Given the description of an element on the screen output the (x, y) to click on. 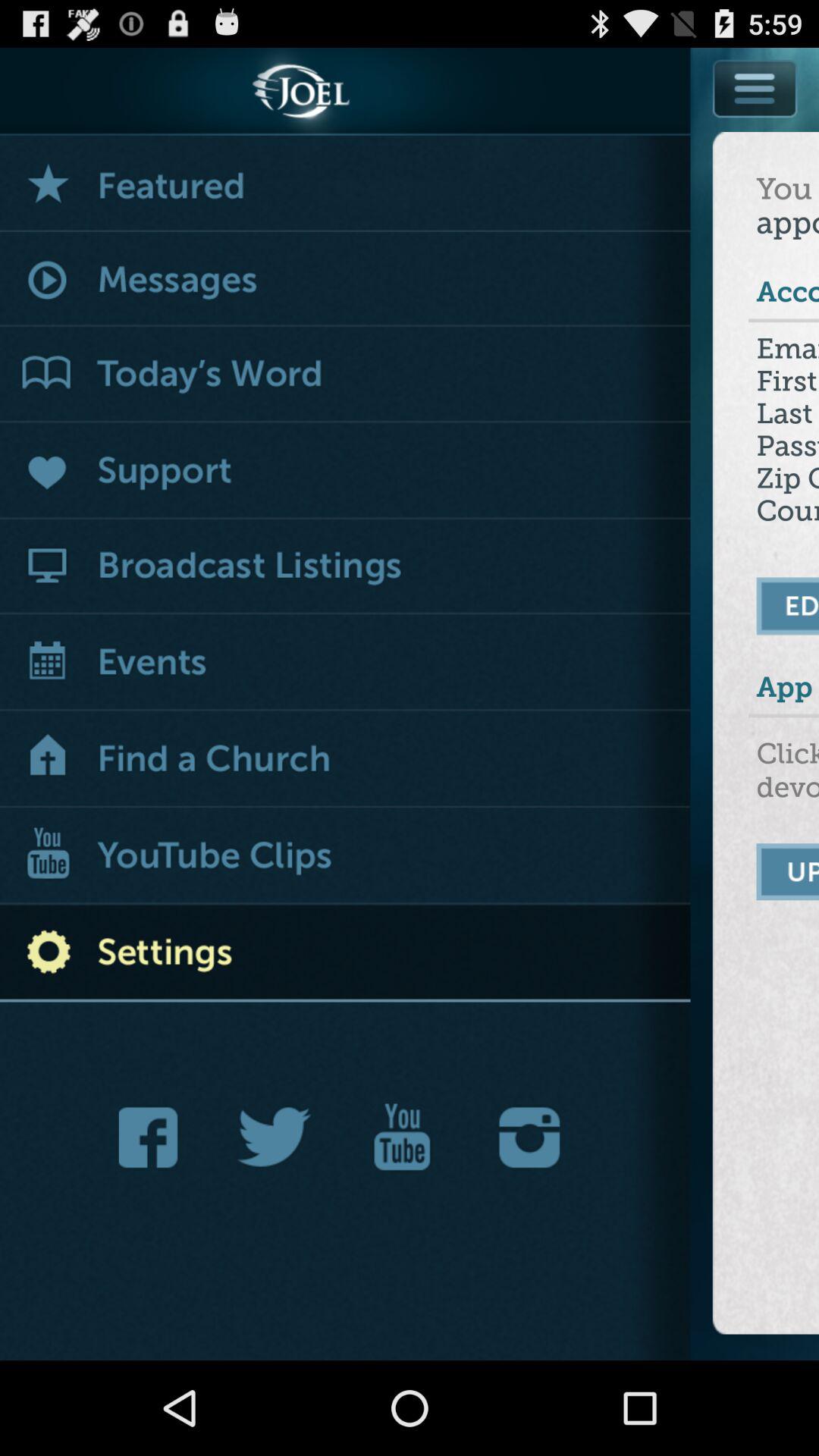
open main menu (755, 88)
